Given the description of an element on the screen output the (x, y) to click on. 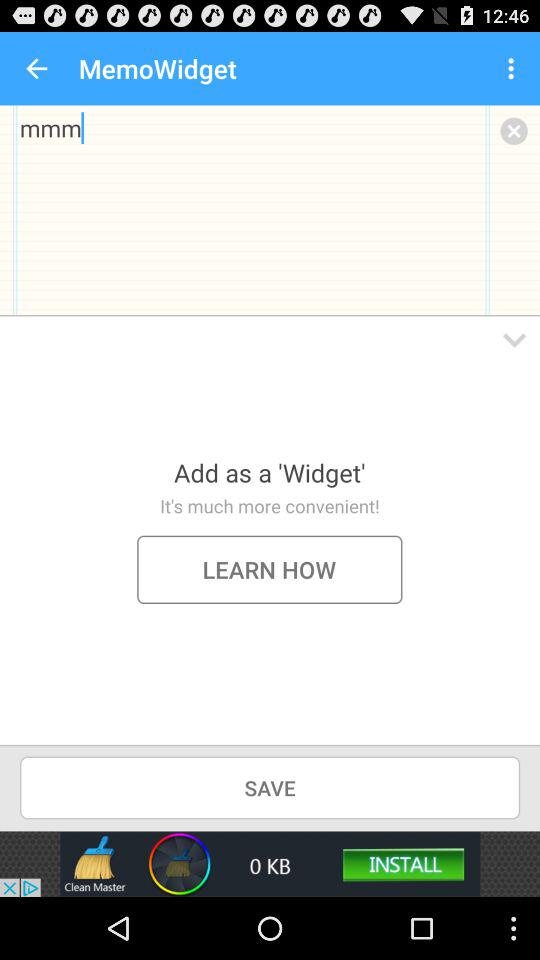
close icon (514, 130)
